Given the description of an element on the screen output the (x, y) to click on. 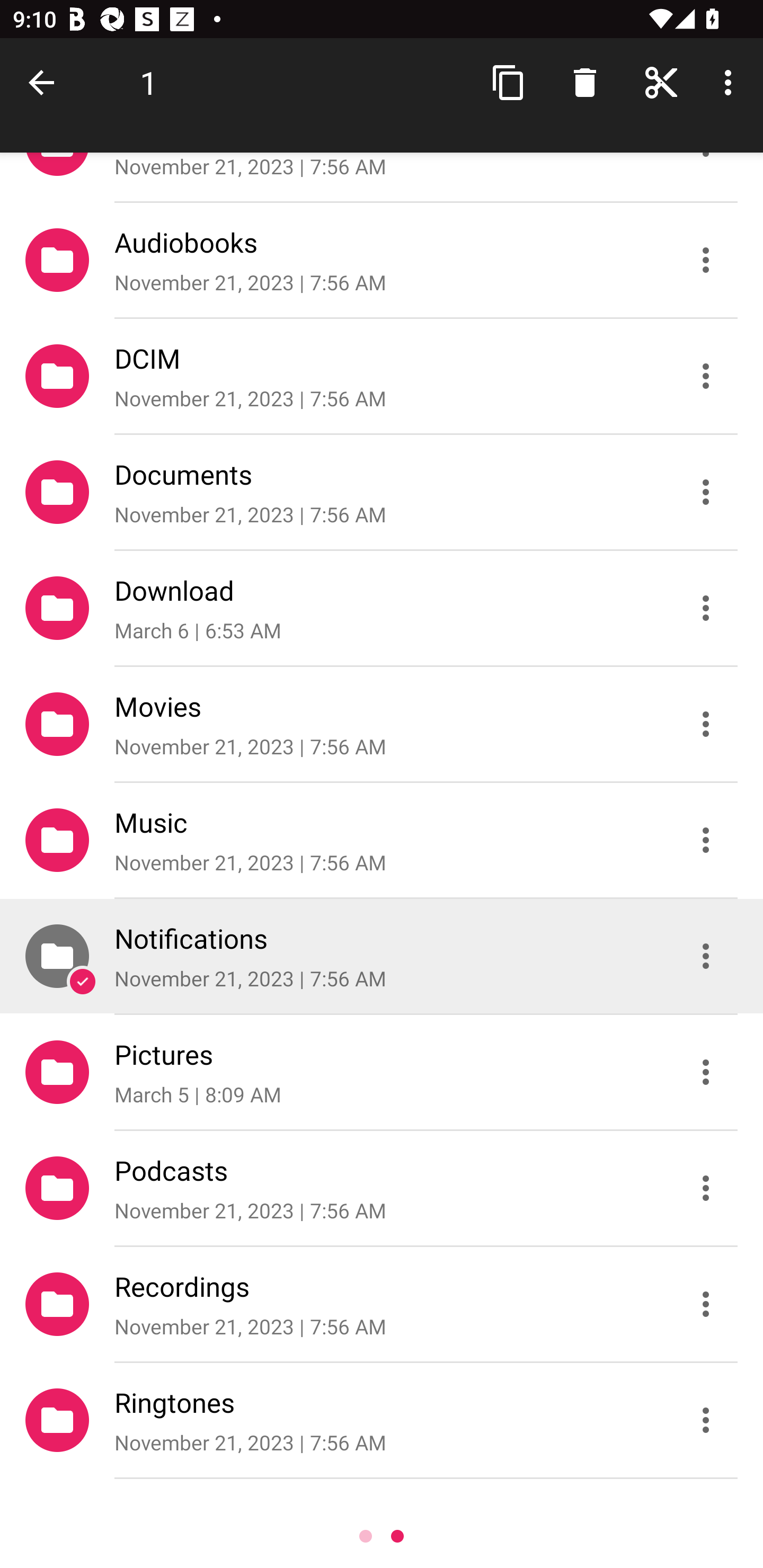
1 (148, 82)
Done (44, 81)
Copy (508, 81)
Delete (585, 81)
Cut (661, 81)
More options (731, 81)
Audiobooks November 21, 2023 | 7:56 AM (381, 259)
DCIM November 21, 2023 | 7:56 AM (381, 375)
Documents November 21, 2023 | 7:56 AM (381, 491)
Download March 6 | 6:53 AM (381, 607)
Movies November 21, 2023 | 7:56 AM (381, 723)
Music November 21, 2023 | 7:56 AM (381, 839)
Notifications November 21, 2023 | 7:56 AM (381, 955)
Pictures March 5 | 8:09 AM (381, 1071)
Podcasts November 21, 2023 | 7:56 AM (381, 1187)
Recordings November 21, 2023 | 7:56 AM (381, 1303)
Ringtones November 21, 2023 | 7:56 AM (381, 1419)
